Given the description of an element on the screen output the (x, y) to click on. 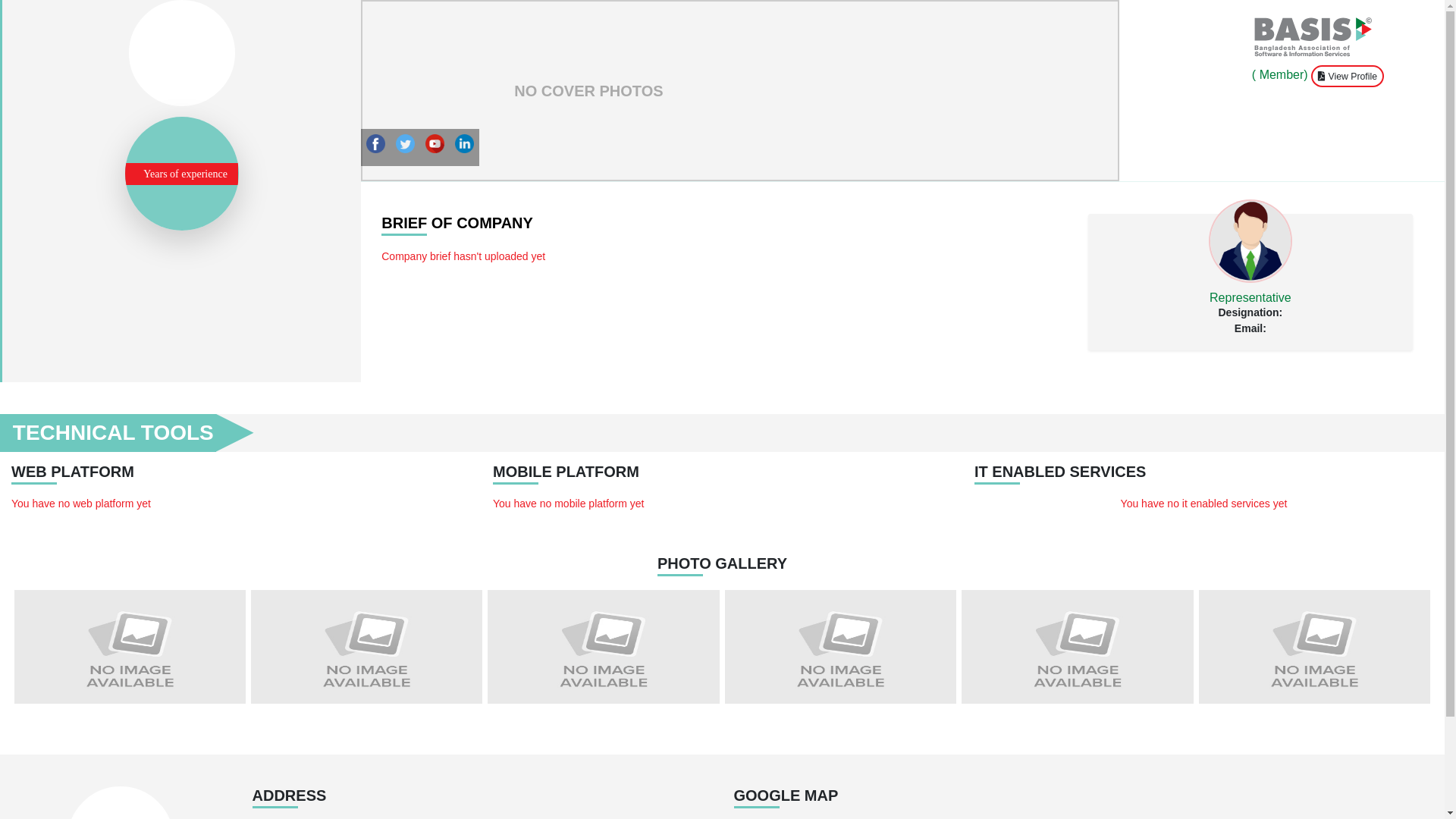
View Profile Element type: text (1347, 76)
